Given the description of an element on the screen output the (x, y) to click on. 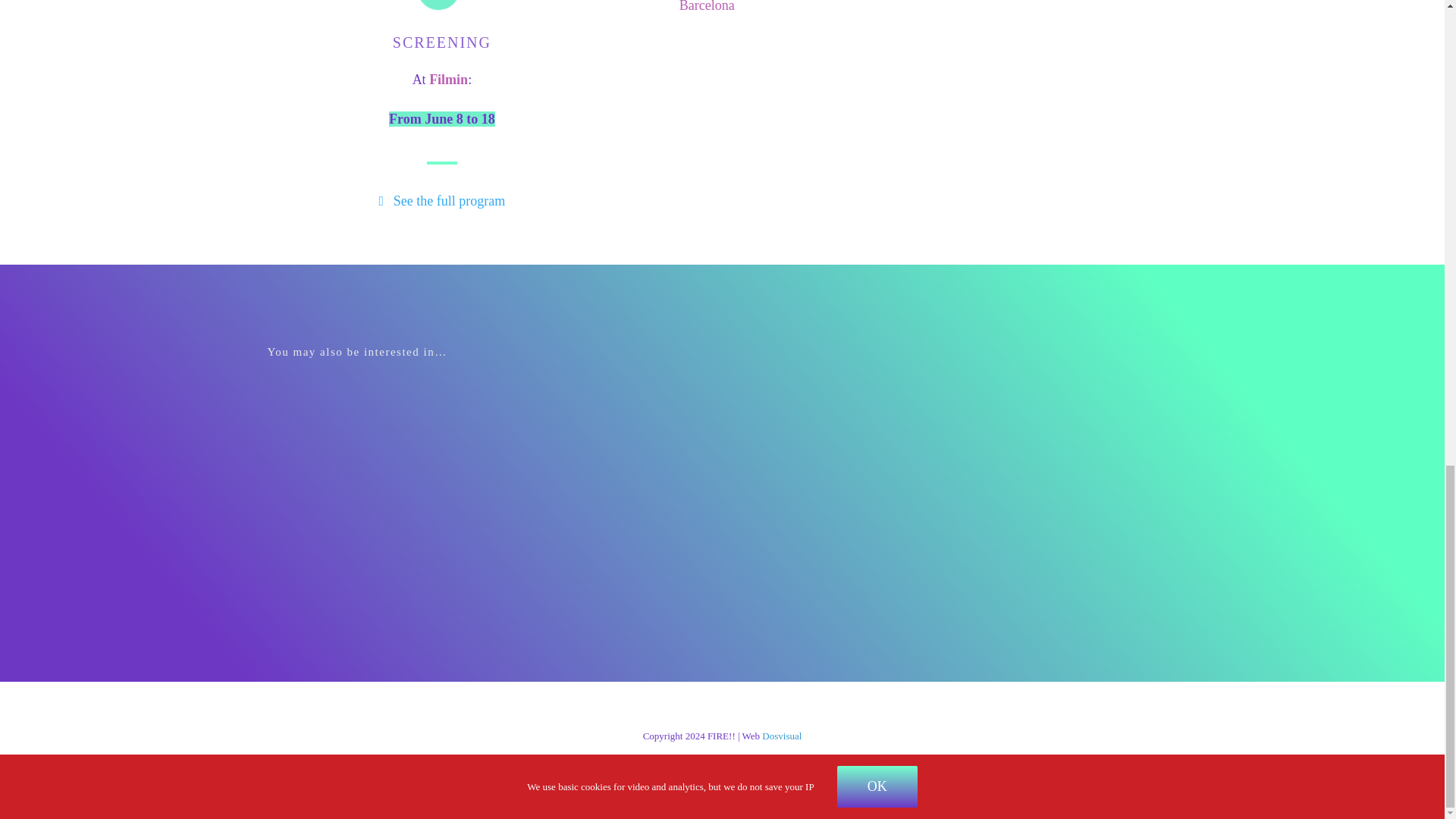
Instagram (700, 778)
YouTube (657, 778)
Facebook (744, 778)
X (788, 778)
